Given the description of an element on the screen output the (x, y) to click on. 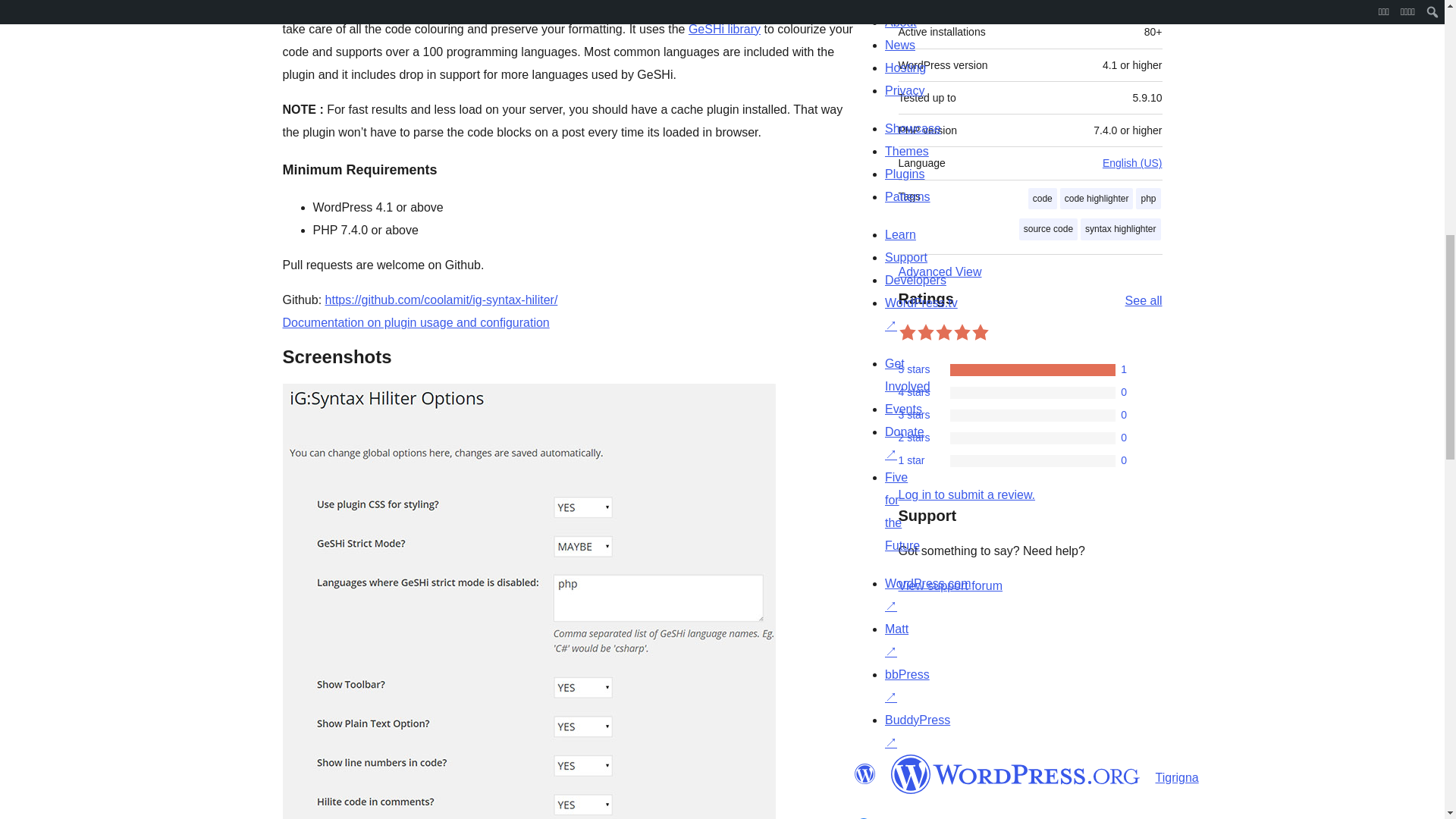
GeSHi library (724, 29)
WordPress.org (864, 773)
Documentation on plugin usage and configuration (415, 322)
Log in to WordPress.org (966, 494)
WordPress.org (1014, 773)
